Given the description of an element on the screen output the (x, y) to click on. 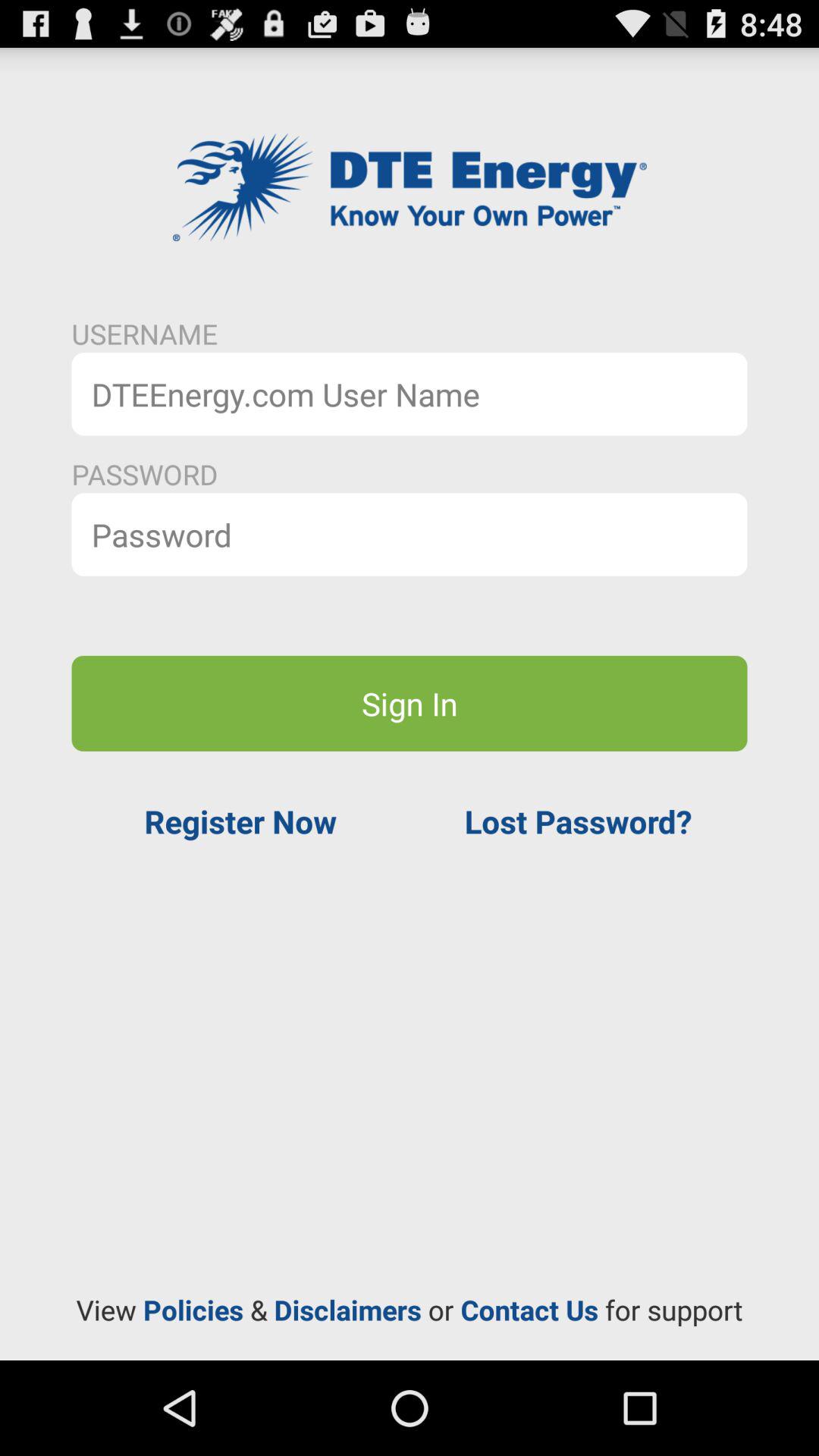
open the icon to the right of register now item (578, 820)
